Given the description of an element on the screen output the (x, y) to click on. 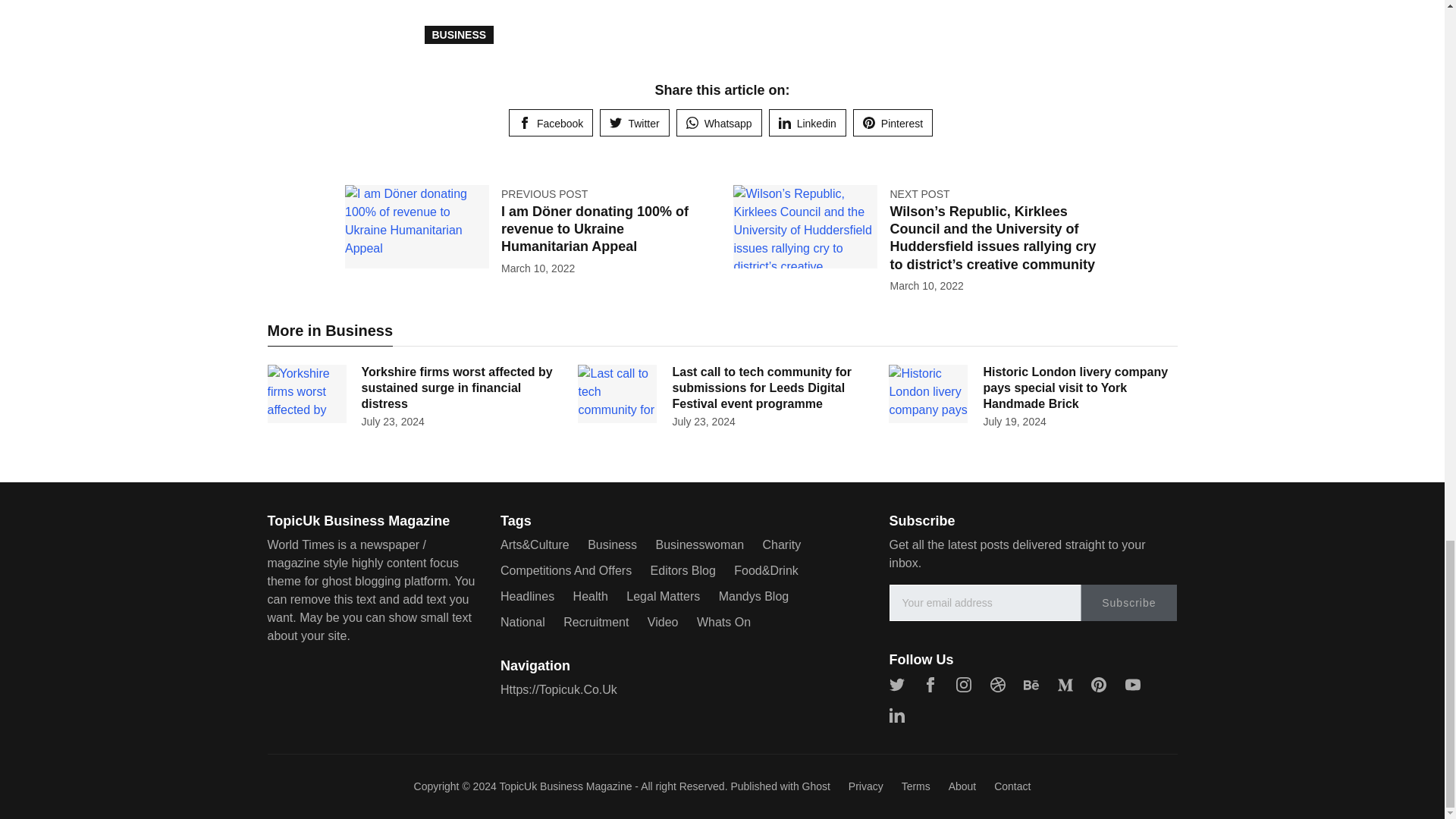
Twitter (633, 122)
19 July, 2024 (1013, 420)
Linkedin (806, 122)
23 July, 2024 (392, 420)
Share on Facebook (550, 122)
10 March, 2022 (537, 268)
NEXT POST (919, 193)
BUSINESS (460, 34)
PREVIOUS POST (544, 193)
Share on Whatsapp (719, 122)
Share on Twitter (633, 122)
Share on Linkedin (806, 122)
10 March, 2022 (925, 285)
